Given the description of an element on the screen output the (x, y) to click on. 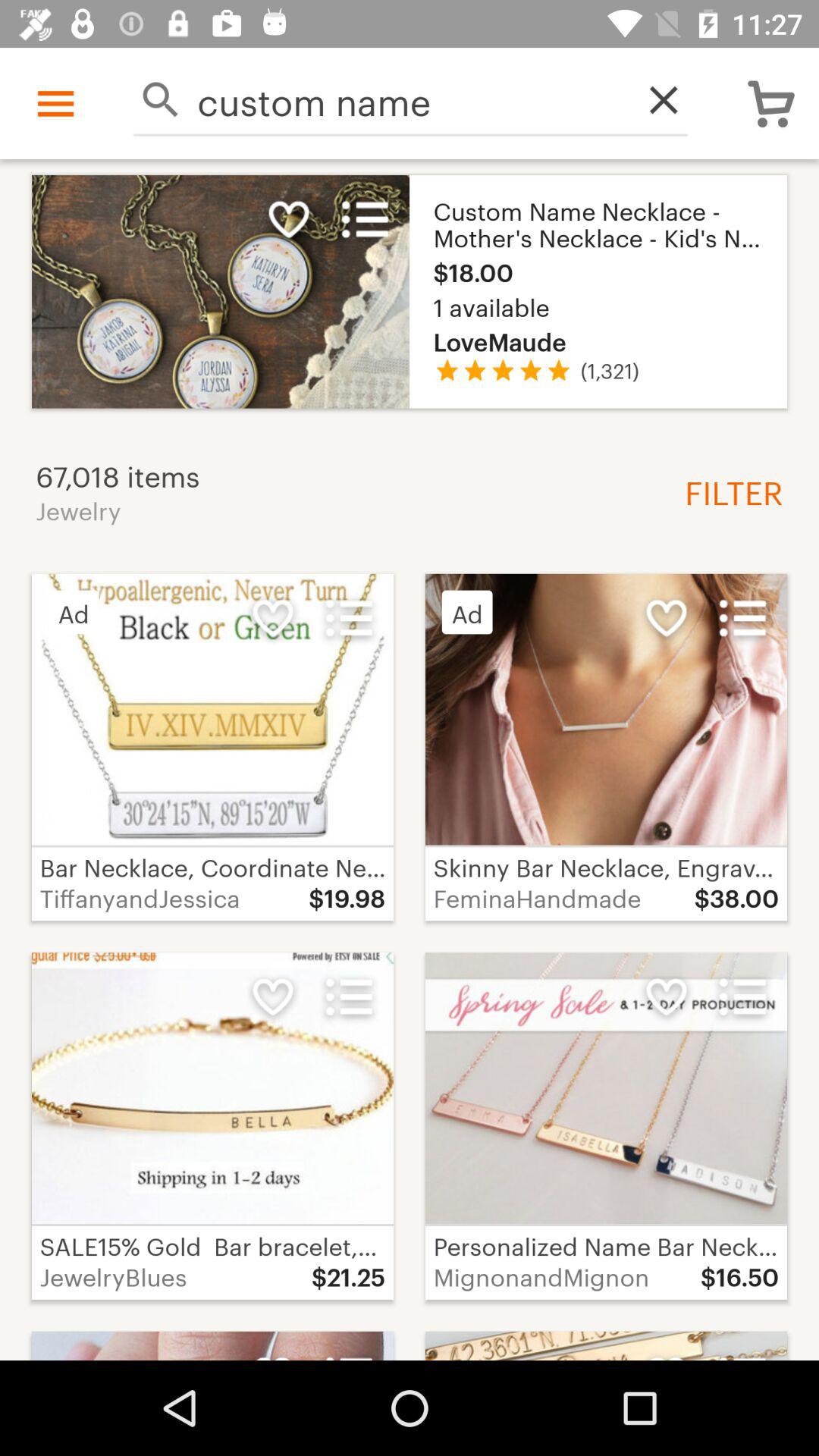
turn on item above custom name necklace (655, 99)
